Given the description of an element on the screen output the (x, y) to click on. 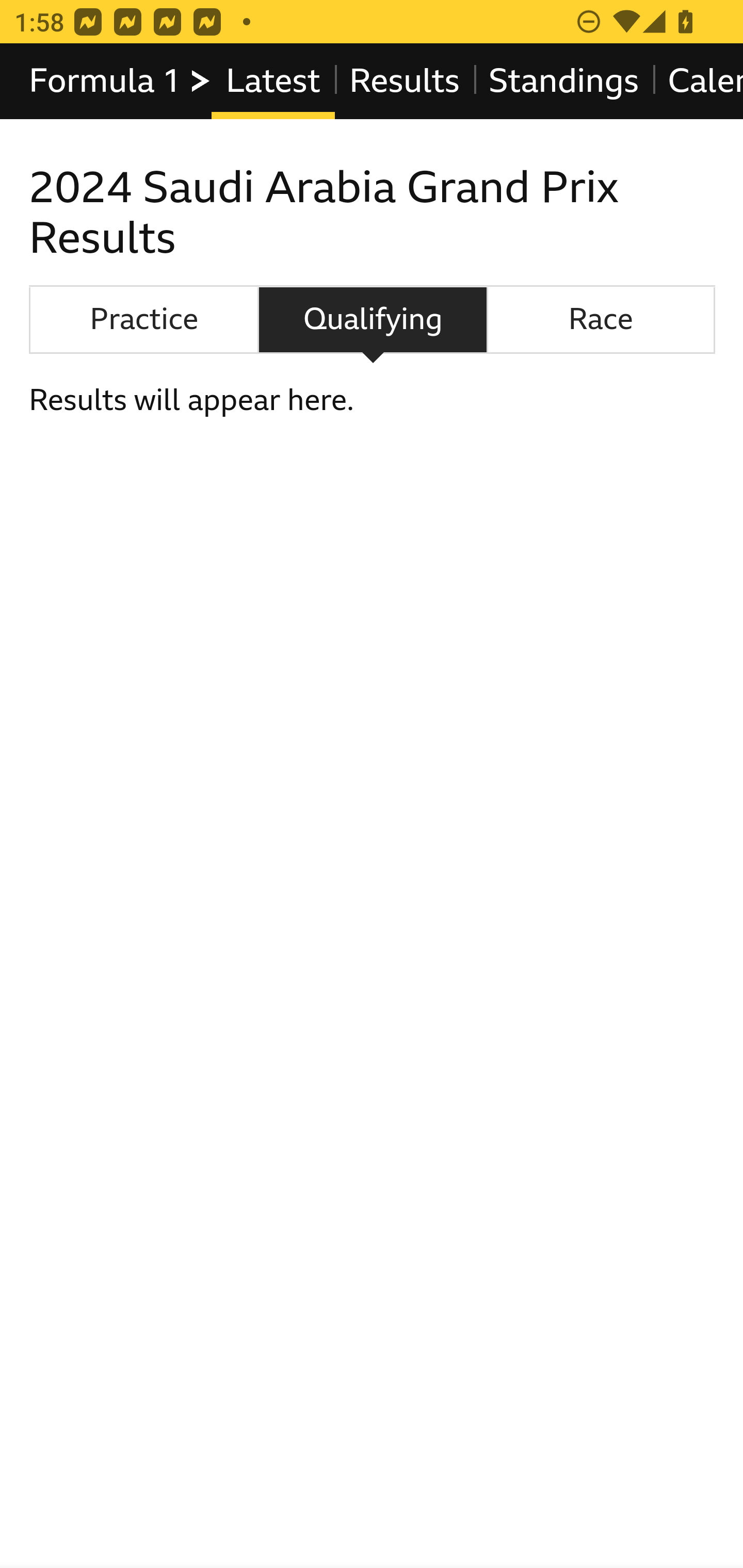
Formula 1  (120, 81)
Latest (272, 81)
Results (403, 81)
Standings (564, 81)
Calendar (697, 81)
Practice (142, 319)
Qualifying (372, 319)
Race (600, 319)
